Given the description of an element on the screen output the (x, y) to click on. 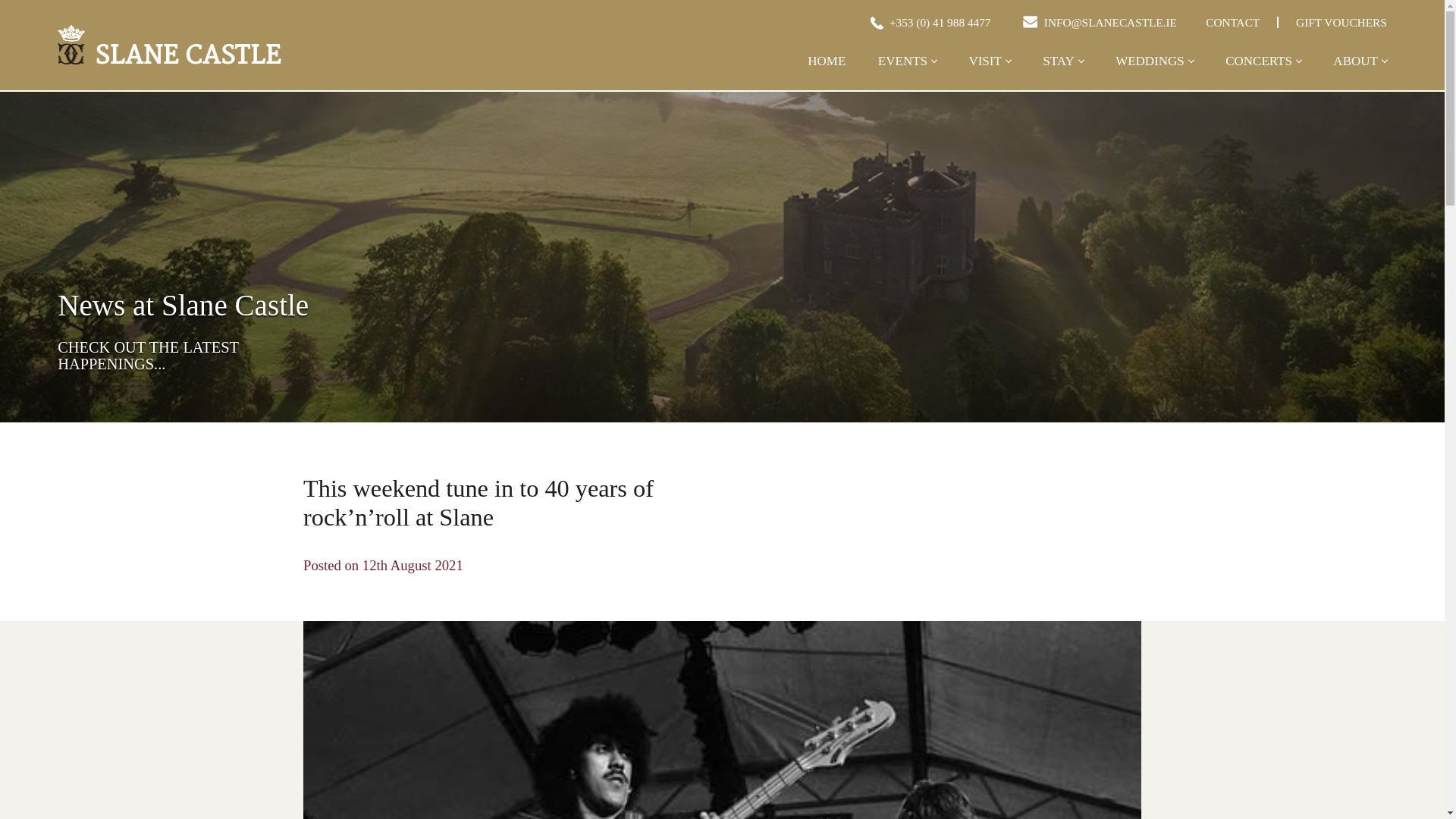
EMAIL (1030, 21)
STAY (1062, 72)
VISIT (989, 72)
WEDDINGS (1154, 72)
CONCERTS (1263, 72)
PHONE (875, 21)
ABOUT (1359, 72)
HOME (826, 72)
EVENTS (906, 72)
